Given the description of an element on the screen output the (x, y) to click on. 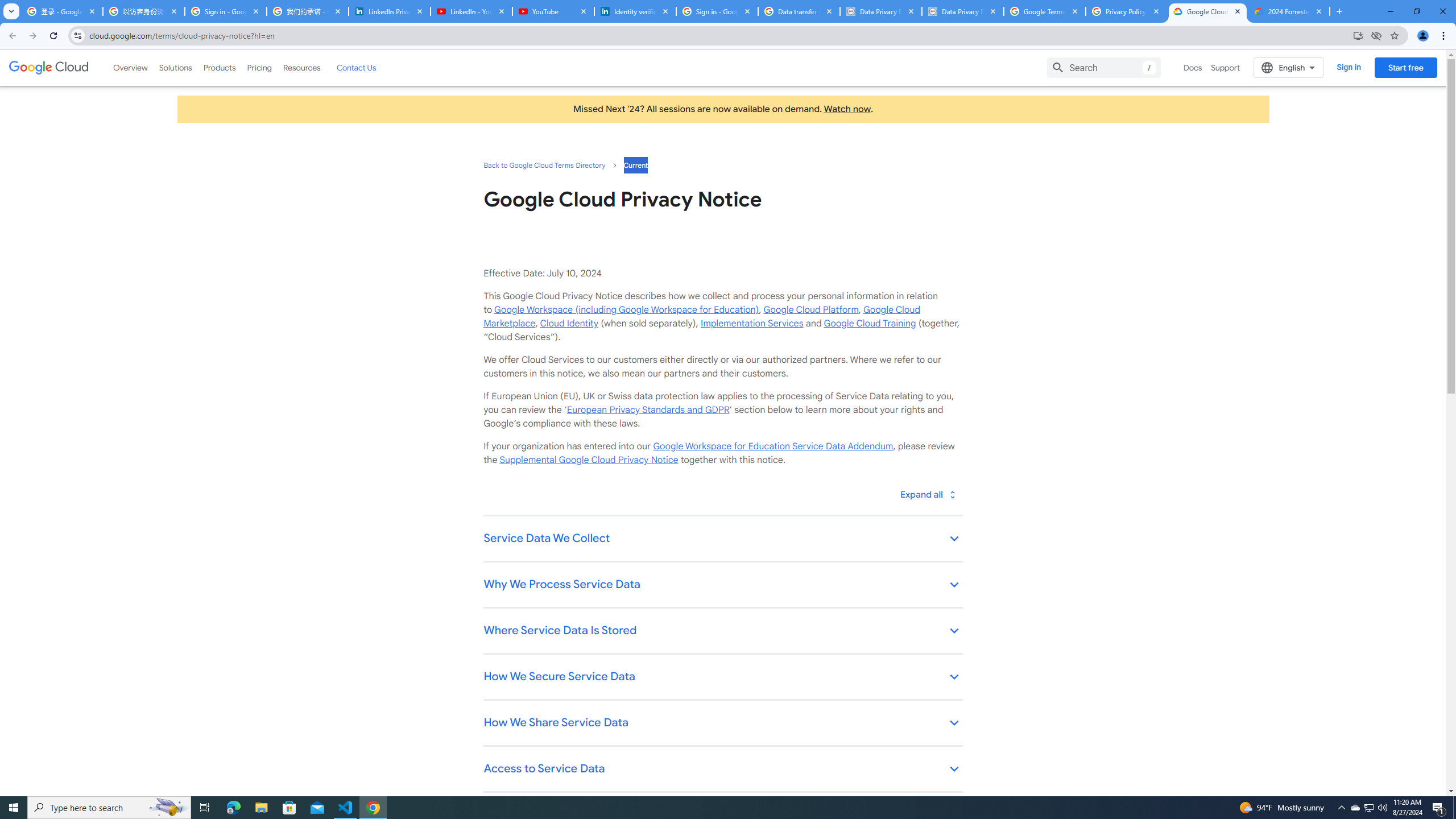
Access to Service Data keyboard_arrow_down (722, 769)
Docs (1192, 67)
Install Google Cloud (1358, 35)
Supplemental Google Cloud Privacy Notice (588, 460)
Products (218, 67)
Sign in - Google Accounts (225, 11)
